Given the description of an element on the screen output the (x, y) to click on. 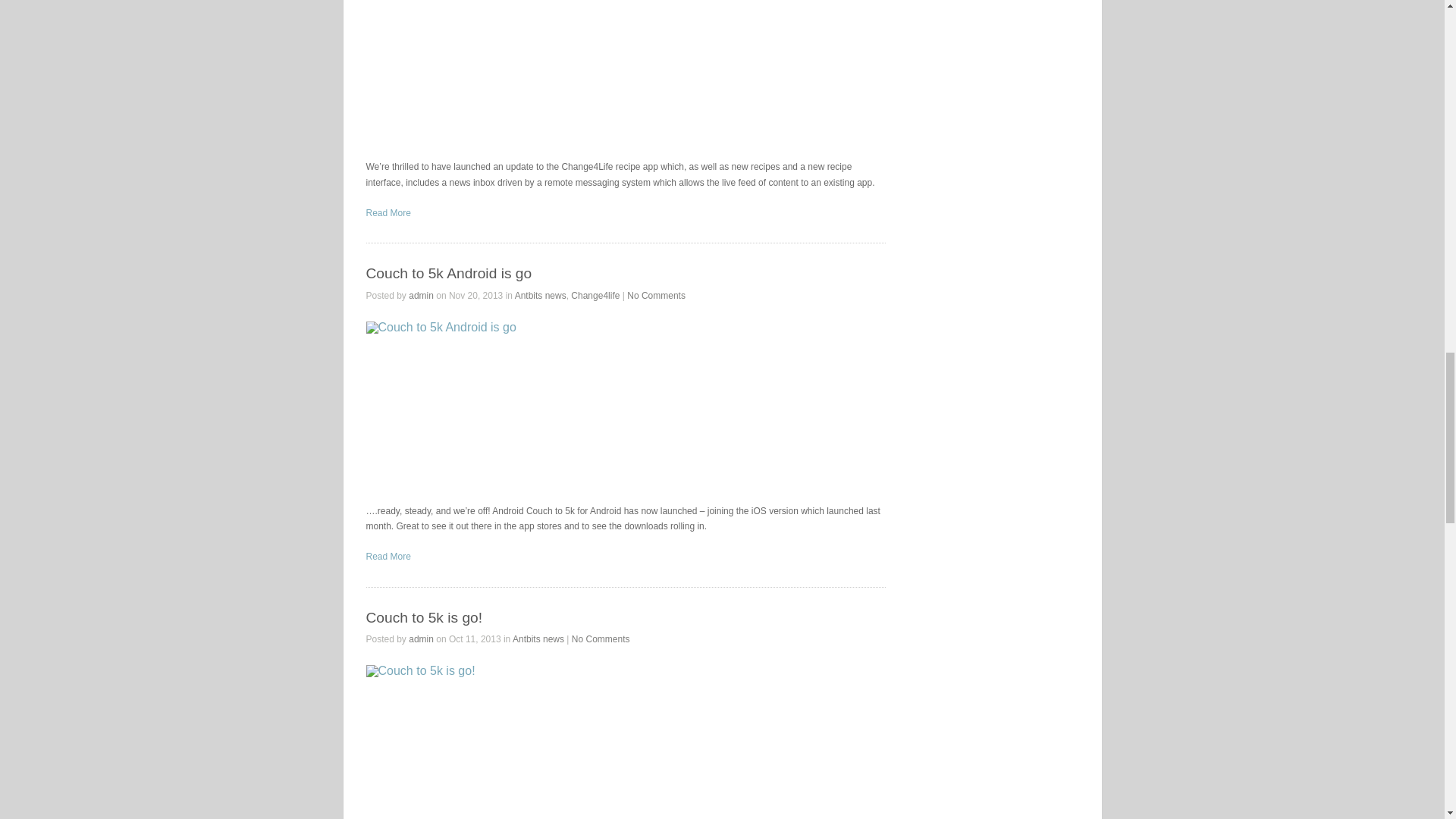
Posts by admin (421, 295)
Read More (387, 213)
Couch to 5k Android is go (448, 273)
Change4Life recipe app update (387, 213)
Couch to 5k Android is go (518, 404)
Change4Life recipe app update (518, 72)
admin (421, 295)
